Given the description of an element on the screen output the (x, y) to click on. 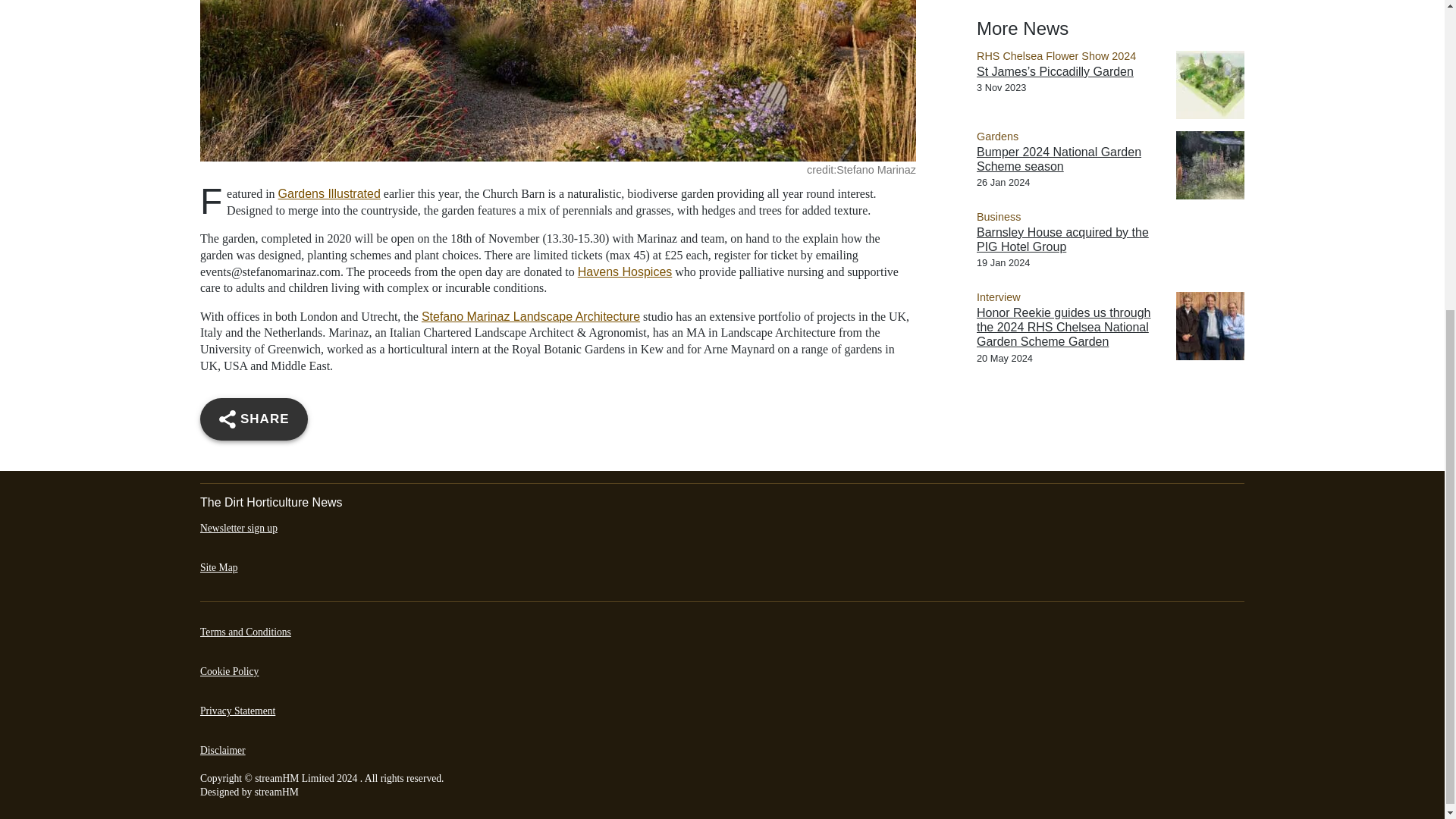
Stefano Marinaz Landscape Architecture (531, 316)
Havens Hospices (625, 271)
Gardens Illustrated (329, 193)
